Given the description of an element on the screen output the (x, y) to click on. 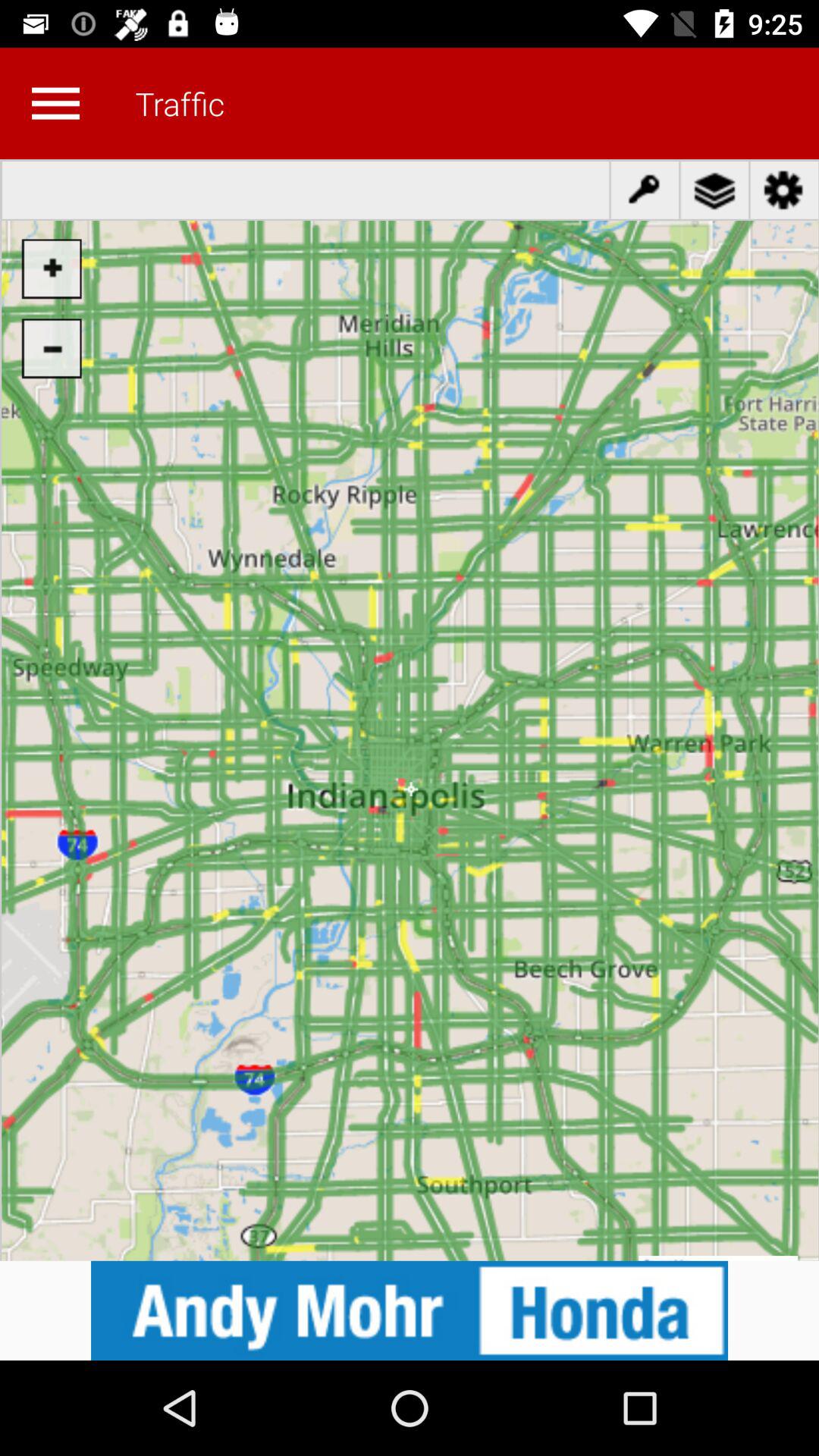
open main menu (55, 103)
